Given the description of an element on the screen output the (x, y) to click on. 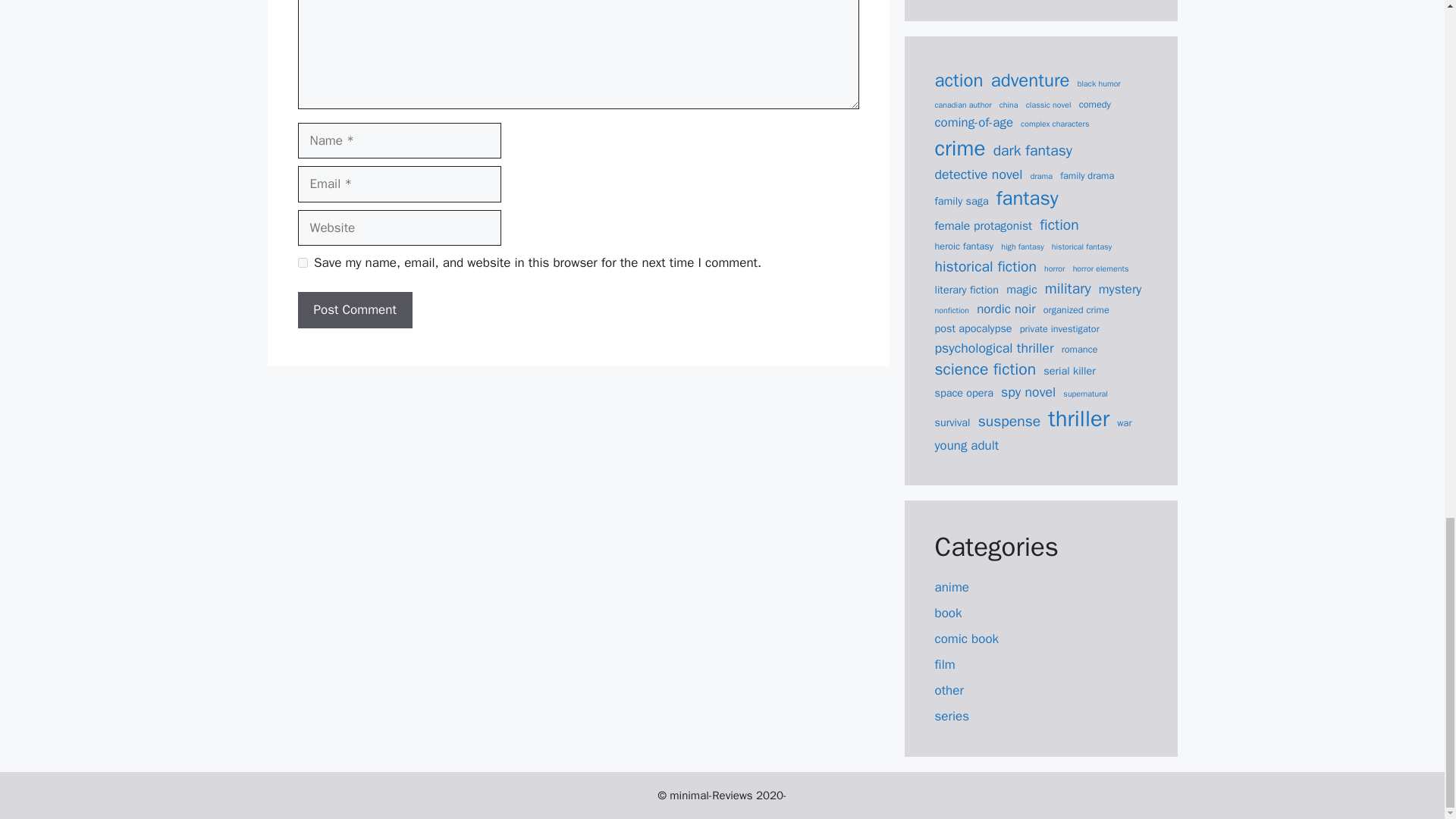
Post Comment (354, 309)
yes (302, 262)
Post Comment (354, 309)
